Given the description of an element on the screen output the (x, y) to click on. 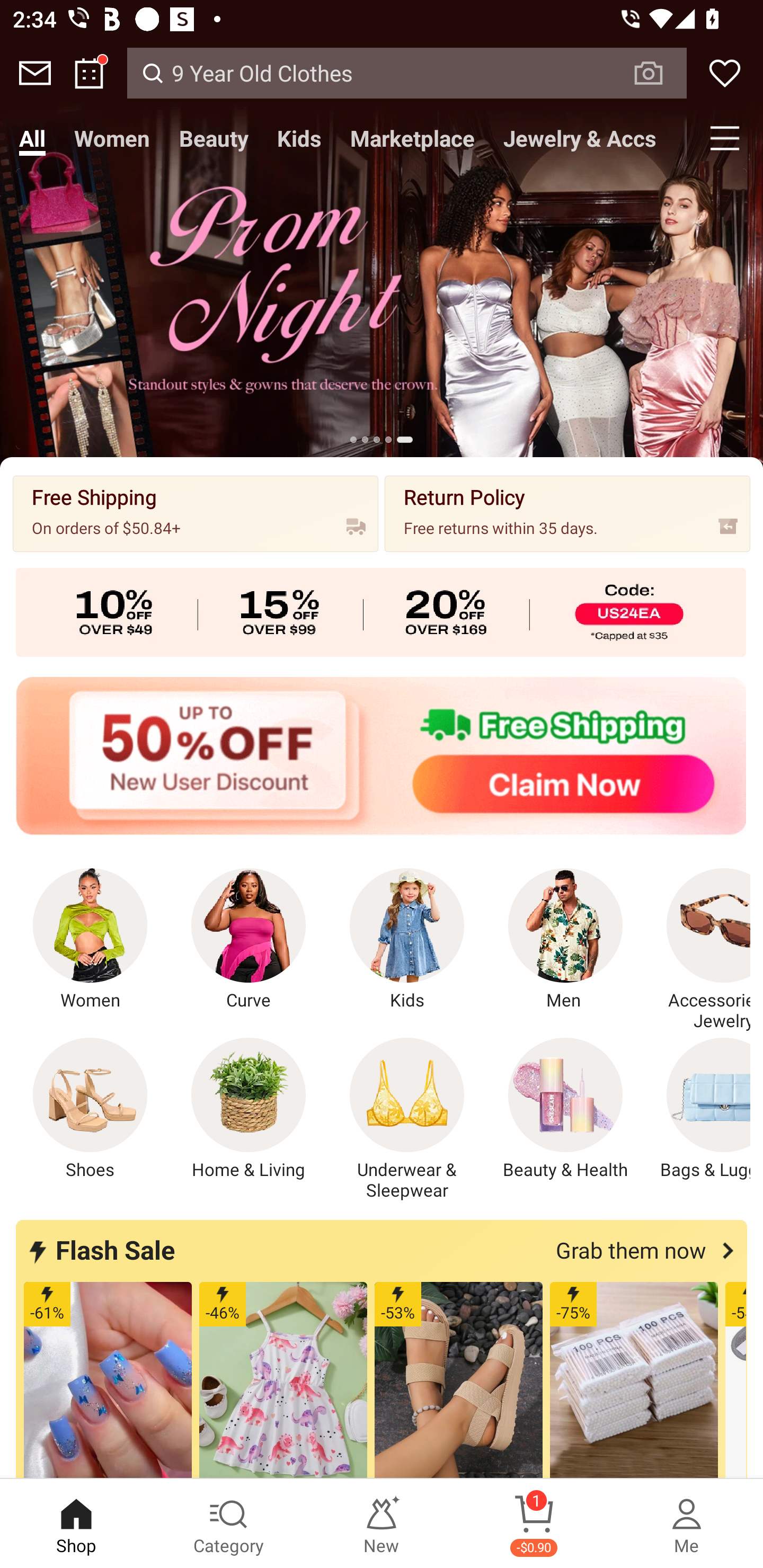
Wishlist (724, 72)
VISUAL SEARCH (657, 72)
All (31, 137)
Women (111, 137)
Beauty (213, 137)
Kids (298, 137)
Marketplace (412, 137)
Jewelry & Accs (580, 137)
Free Shipping On orders of $50.84+ (195, 513)
Return Policy Free returns within 35 days. (567, 513)
Women (89, 939)
Curve (248, 939)
Kids (406, 939)
Men  (565, 939)
Accessories & Jewelry (698, 949)
Shoes (89, 1109)
Home & Living (248, 1109)
Underwear & Sleepwear (406, 1119)
Beauty & Health (565, 1109)
Bags & Luggage (698, 1109)
Category (228, 1523)
New (381, 1523)
Cart 1 -$0.90 (533, 1523)
Me (686, 1523)
